Given the description of an element on the screen output the (x, y) to click on. 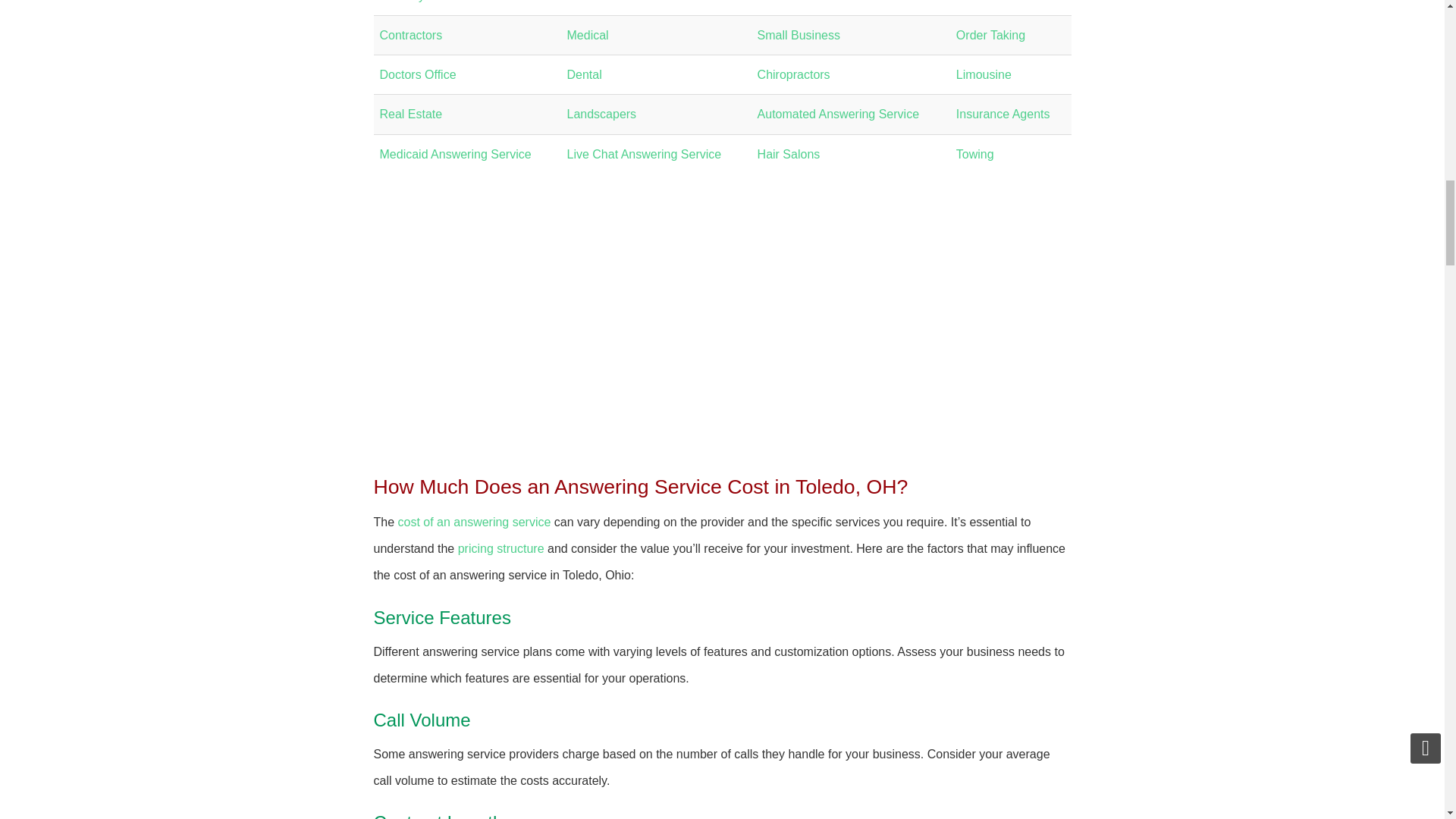
Attorney (401, 1)
Small Business (608, 1)
Medical (587, 34)
Contractors (410, 34)
After Hours (787, 1)
Small Business (798, 34)
Funeral Homes (997, 1)
